Given the description of an element on the screen output the (x, y) to click on. 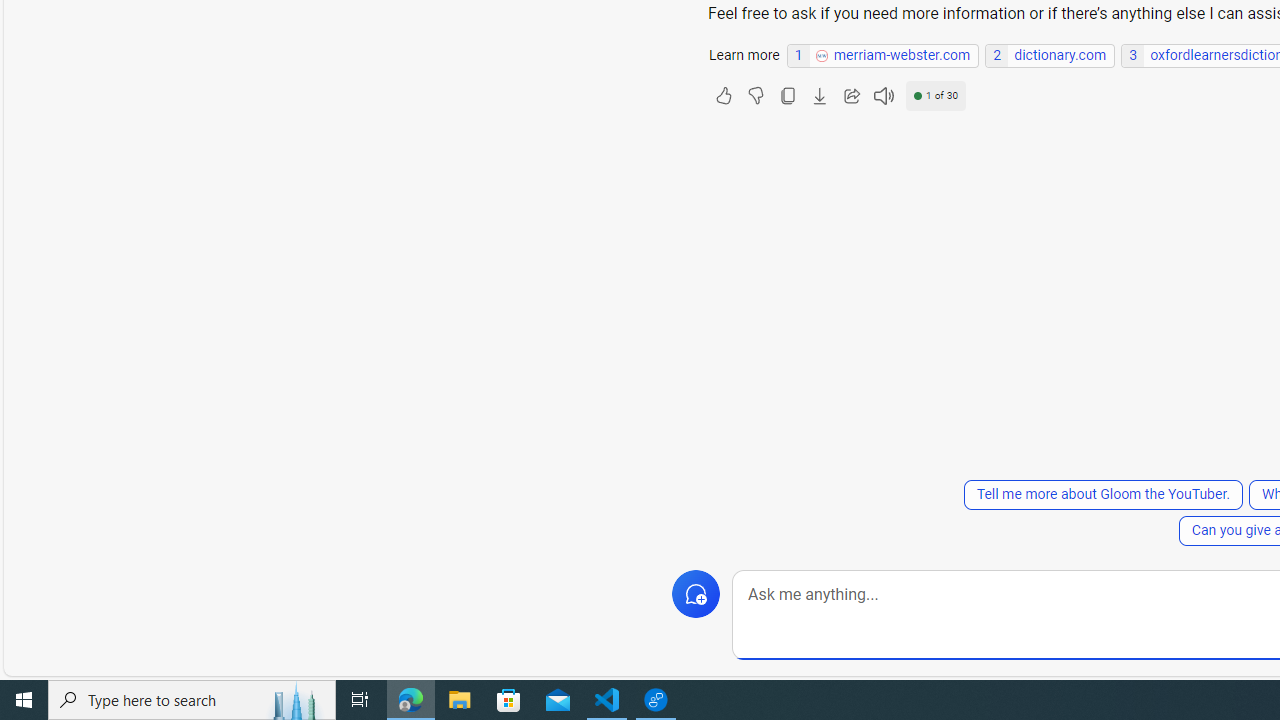
Copy (787, 95)
Tell me more about Gloom the YouTuber. (1102, 494)
Like (723, 95)
Tell me more about Gloom the YouTuber. (1102, 494)
Read aloud (883, 95)
Dislike (755, 95)
Export (819, 95)
Share (851, 95)
